Given the description of an element on the screen output the (x, y) to click on. 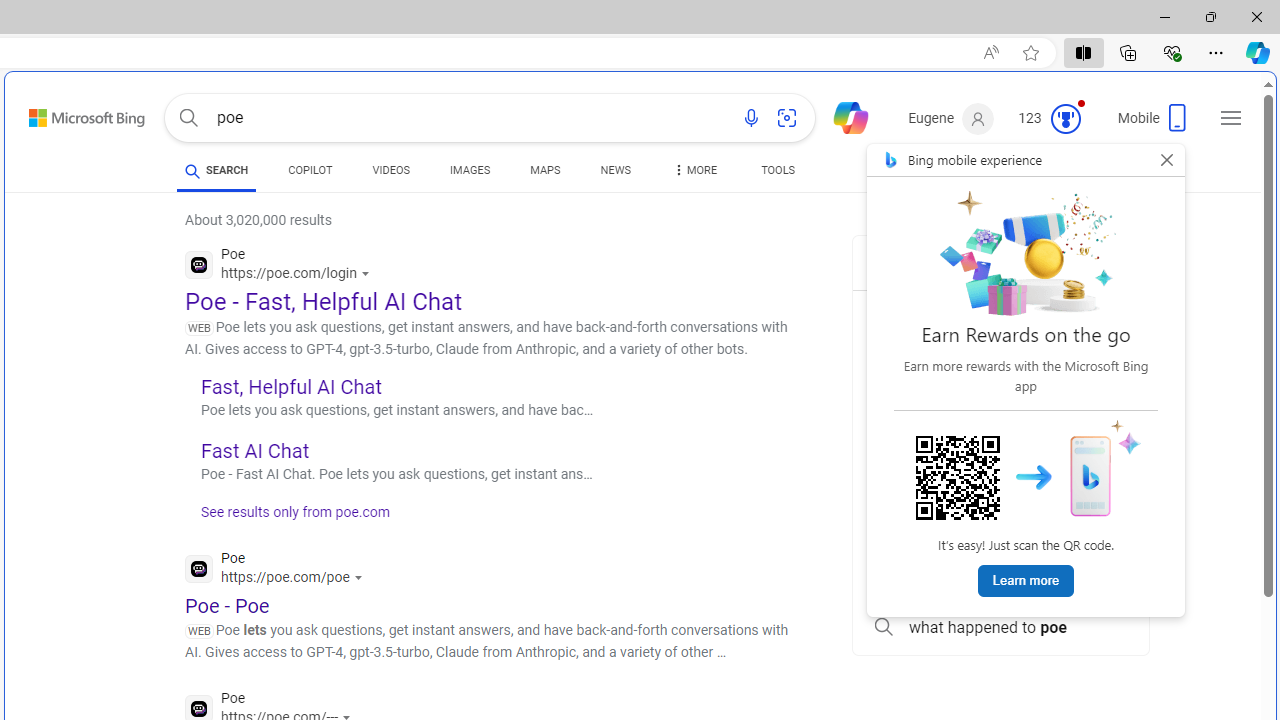
poe official website (1000, 312)
COPILOT (310, 173)
Back to Bing search (74, 113)
Global web icon (198, 708)
IMAGES (470, 170)
Scan me! (957, 478)
poe website (1000, 582)
Class: medal-circled (1065, 118)
Microsoft Rewards 123 (1052, 119)
Mobile (1154, 124)
MORE (693, 173)
Actions for this site (360, 577)
poe.com login (1000, 538)
